Given the description of an element on the screen output the (x, y) to click on. 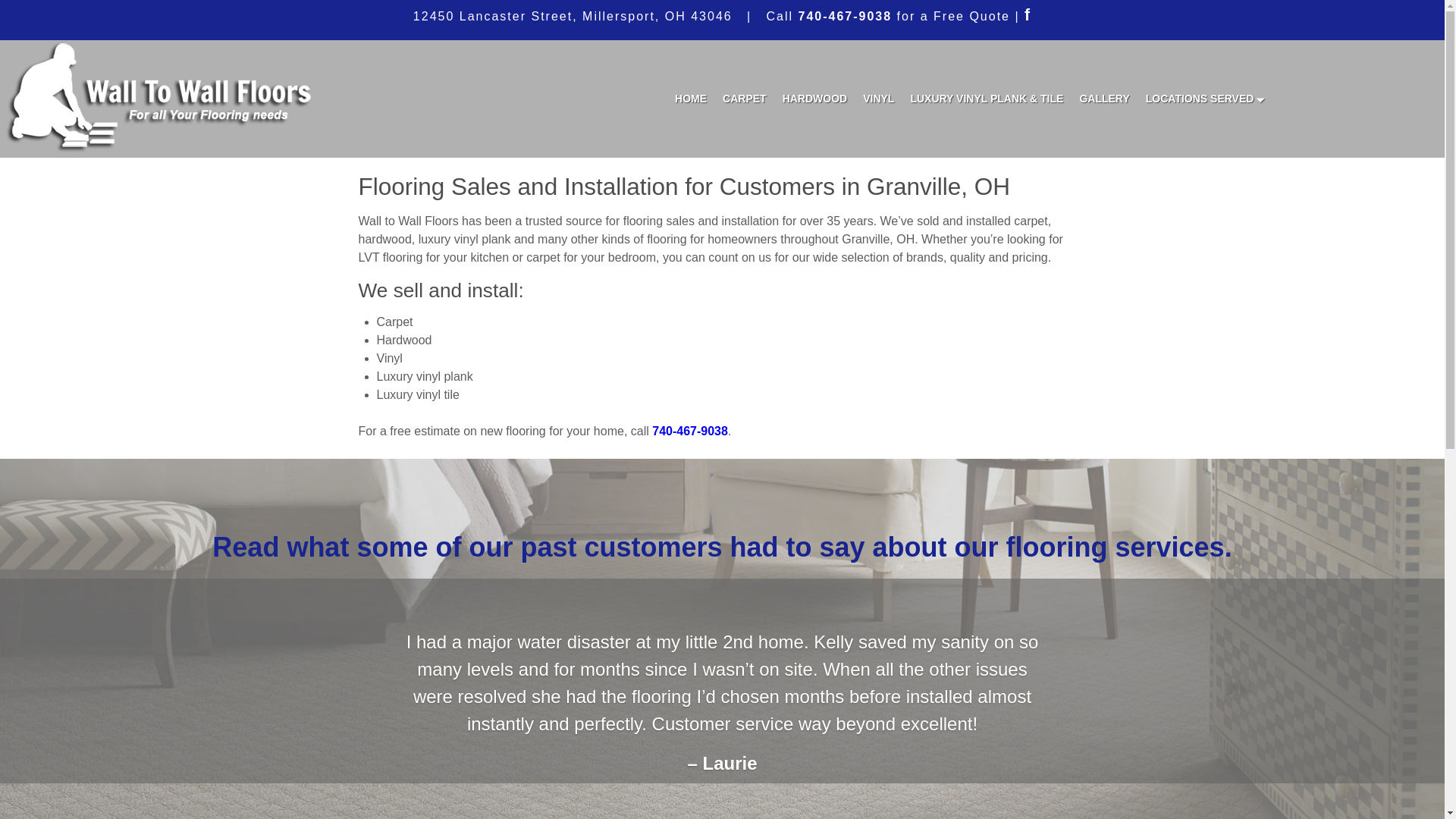
VINYL (879, 98)
HARDWOOD (815, 98)
LOCATIONS SERVED (1203, 98)
GALLERY (1104, 98)
740-467-9038 (690, 431)
HOME (690, 98)
740-467-9038 (844, 15)
CARPET (744, 98)
